Given the description of an element on the screen output the (x, y) to click on. 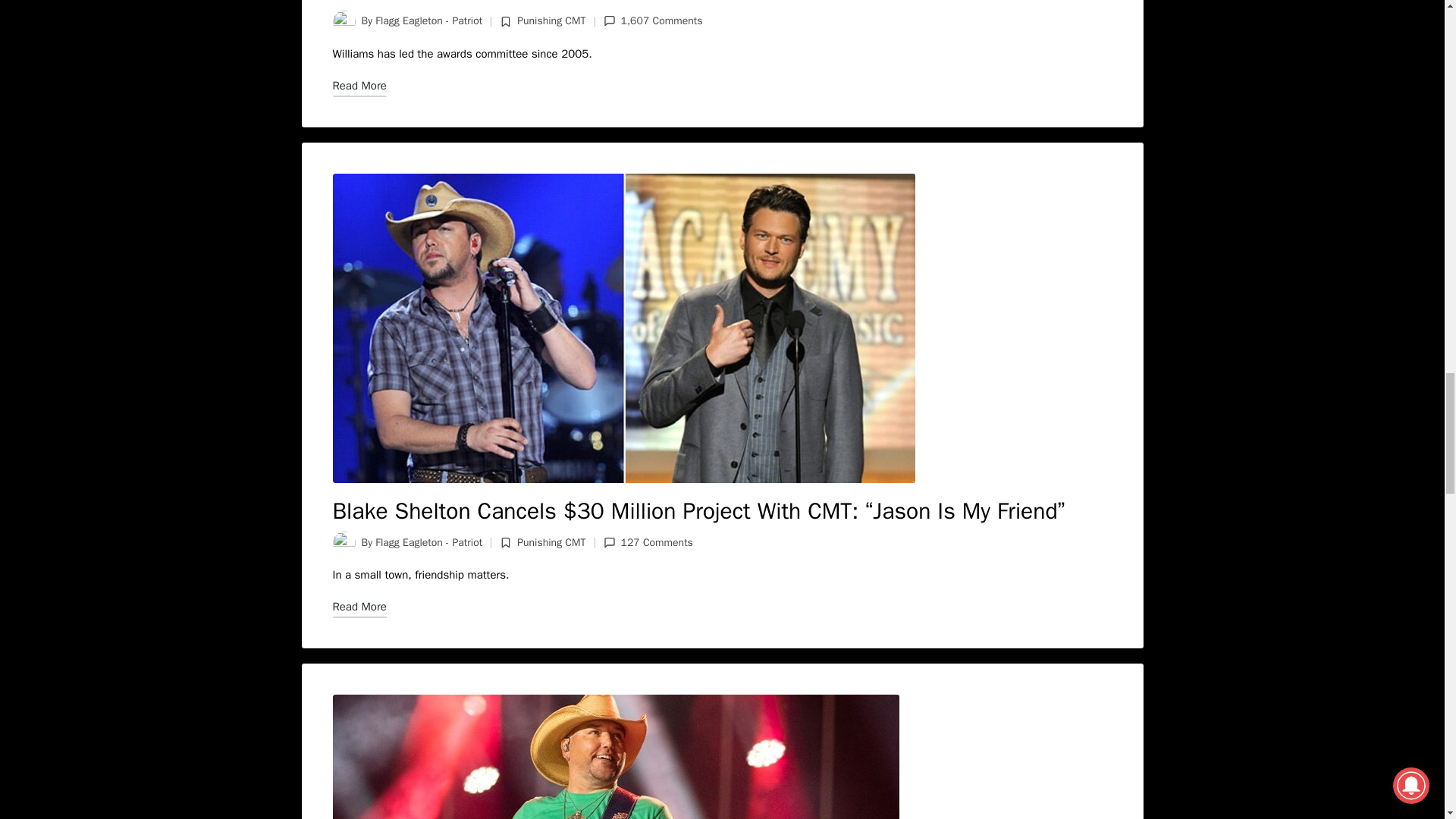
1,607 Comments (653, 21)
Flagg Eagleton - Patriot (428, 542)
Read More (358, 86)
Punishing CMT (550, 542)
Punishing CMT (550, 20)
View all posts by Flagg Eagleton - Patriot (428, 20)
Read More (358, 607)
Flagg Eagleton - Patriot (428, 20)
127 Comments (648, 542)
View all posts by Flagg Eagleton - Patriot (428, 542)
